Given the description of an element on the screen output the (x, y) to click on. 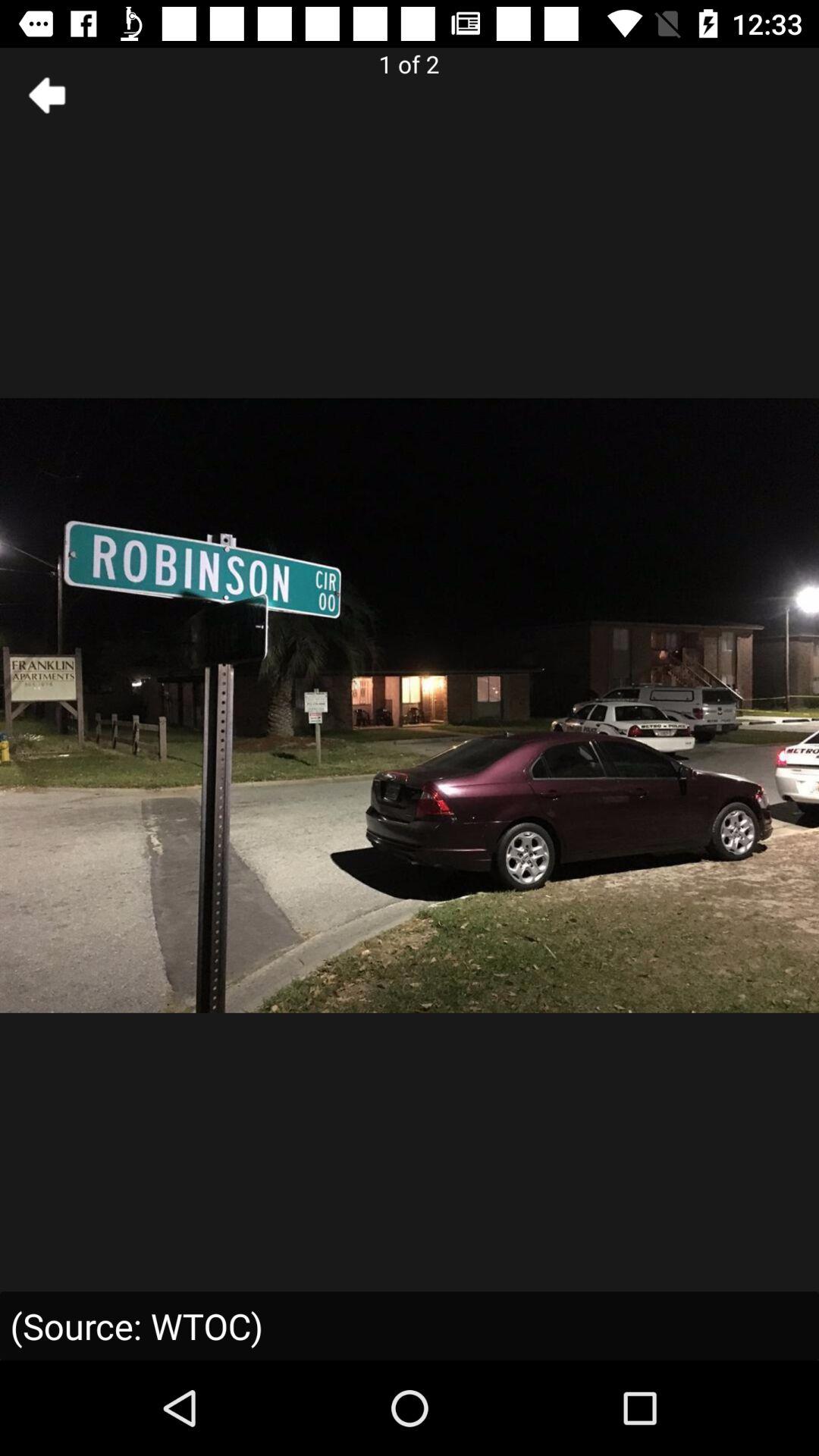
go back (47, 95)
